Given the description of an element on the screen output the (x, y) to click on. 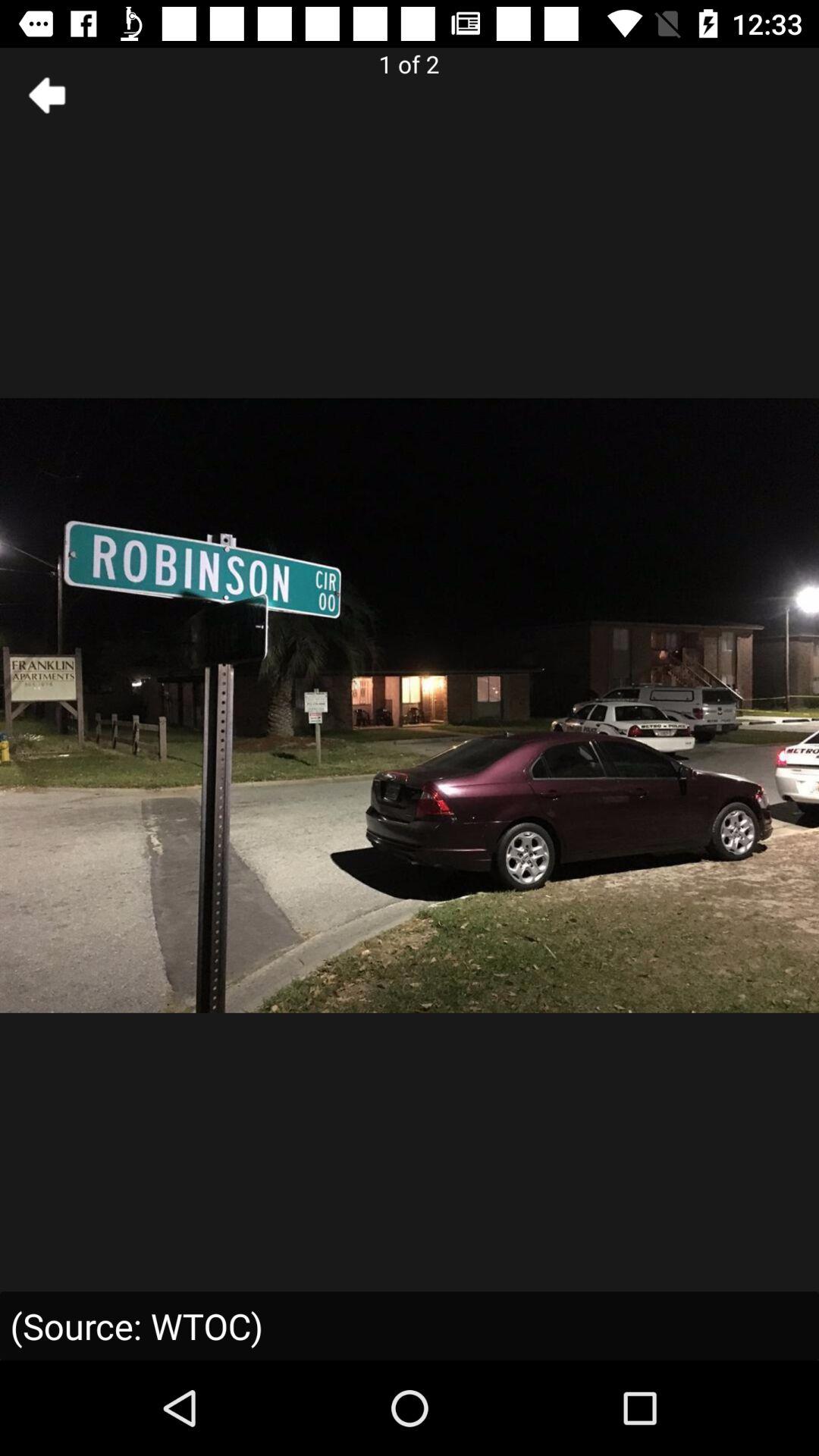
go back (47, 95)
